Given the description of an element on the screen output the (x, y) to click on. 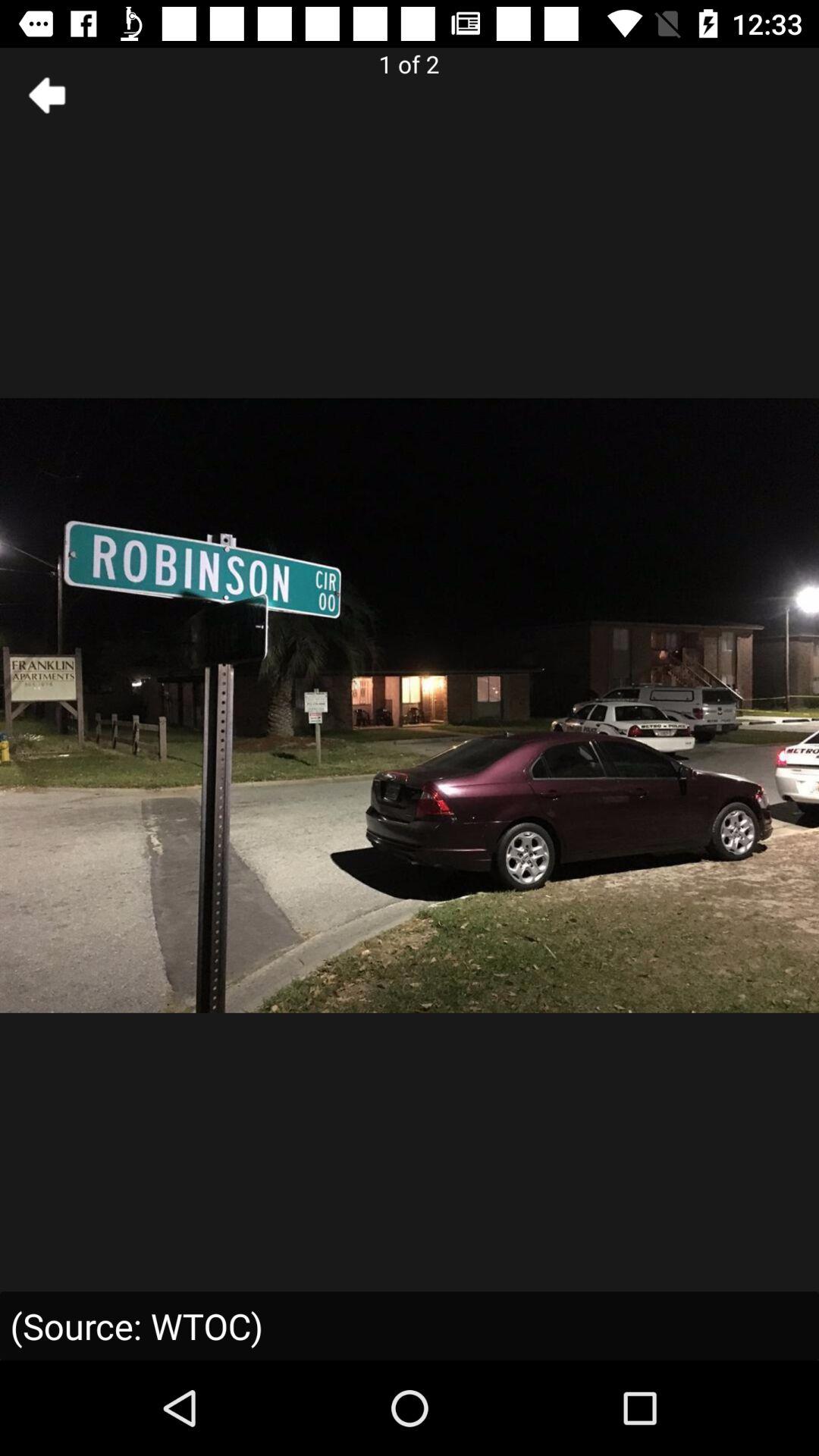
go back (47, 95)
